Given the description of an element on the screen output the (x, y) to click on. 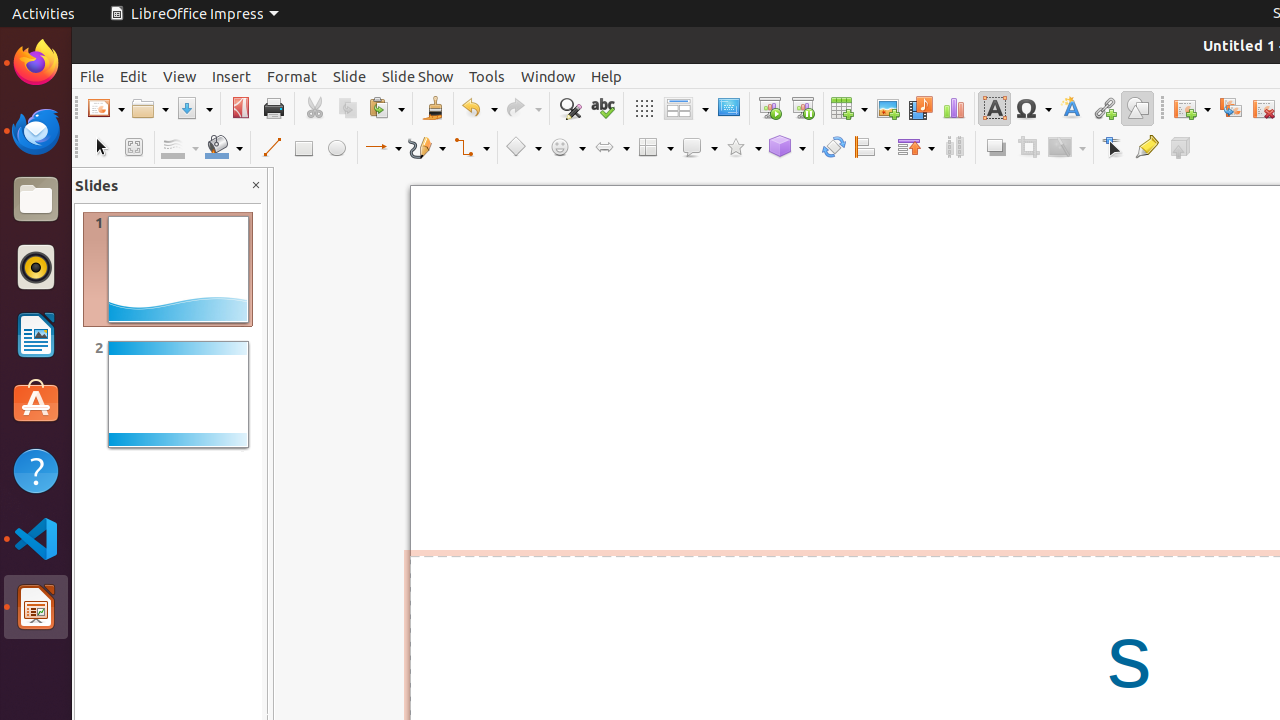
Text Box Element type: push-button (994, 108)
Window Element type: menu (548, 76)
Connectors Element type: push-button (471, 147)
Grid Element type: toggle-button (643, 108)
Undo Element type: push-button (479, 108)
